Given the description of an element on the screen output the (x, y) to click on. 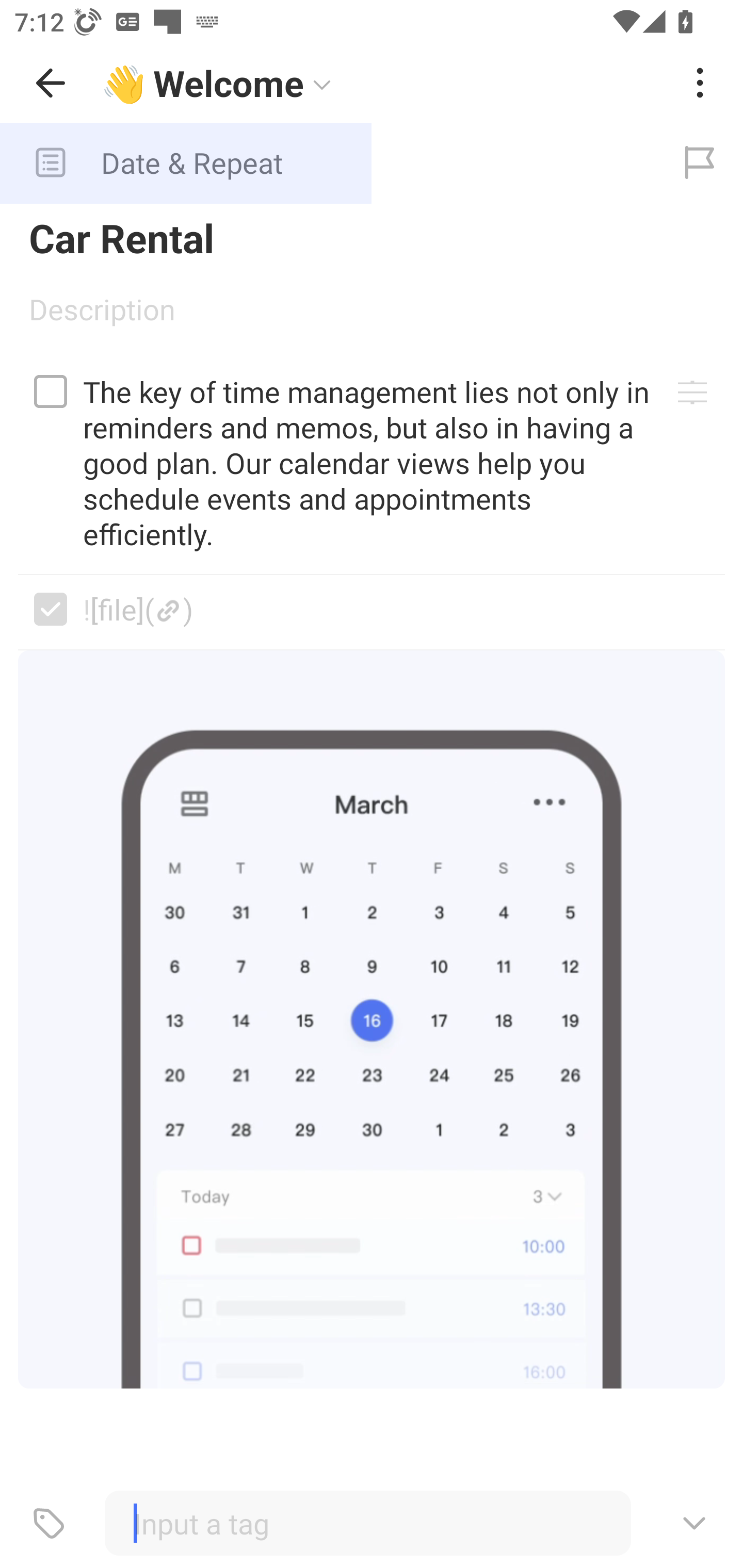
👋 Welcome (384, 82)
Date & Repeat (328, 163)
Car Rental (371, 237)
Description (371, 315)
  (50, 390)
  (50, 608)
Input a tag (367, 1523)
